Given the description of an element on the screen output the (x, y) to click on. 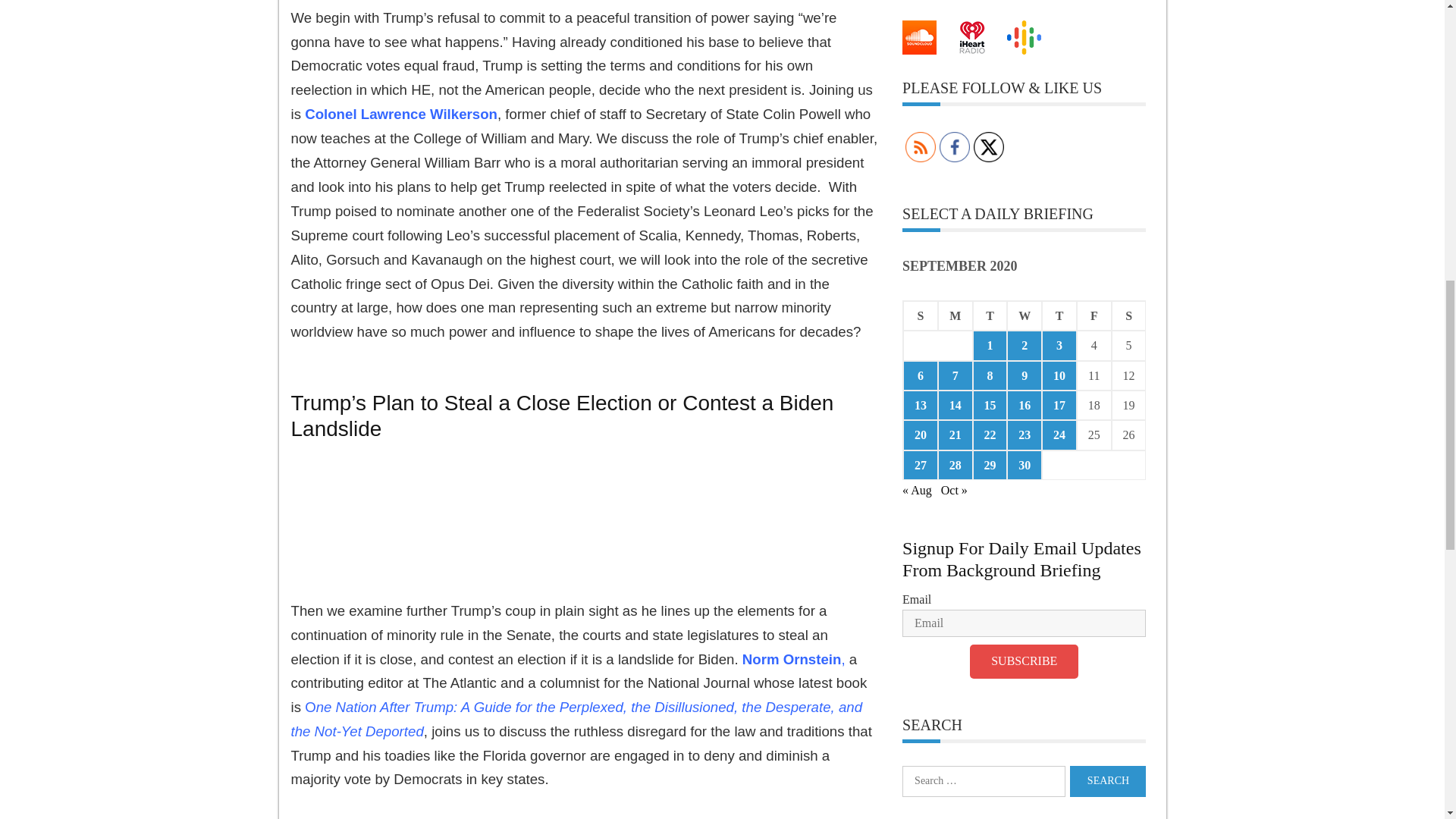
Friday (1094, 315)
RSS (920, 146)
Thursday (1059, 315)
Twitter (989, 146)
Tuesday (989, 315)
Search (1107, 780)
Saturday (1129, 315)
Wednesday (1024, 315)
Facebook (954, 146)
Monday (954, 315)
Search (1107, 780)
Norm Ornstein, (793, 659)
Colonel Lawrence Wilkerson (400, 114)
Sunday (919, 315)
